Given the description of an element on the screen output the (x, y) to click on. 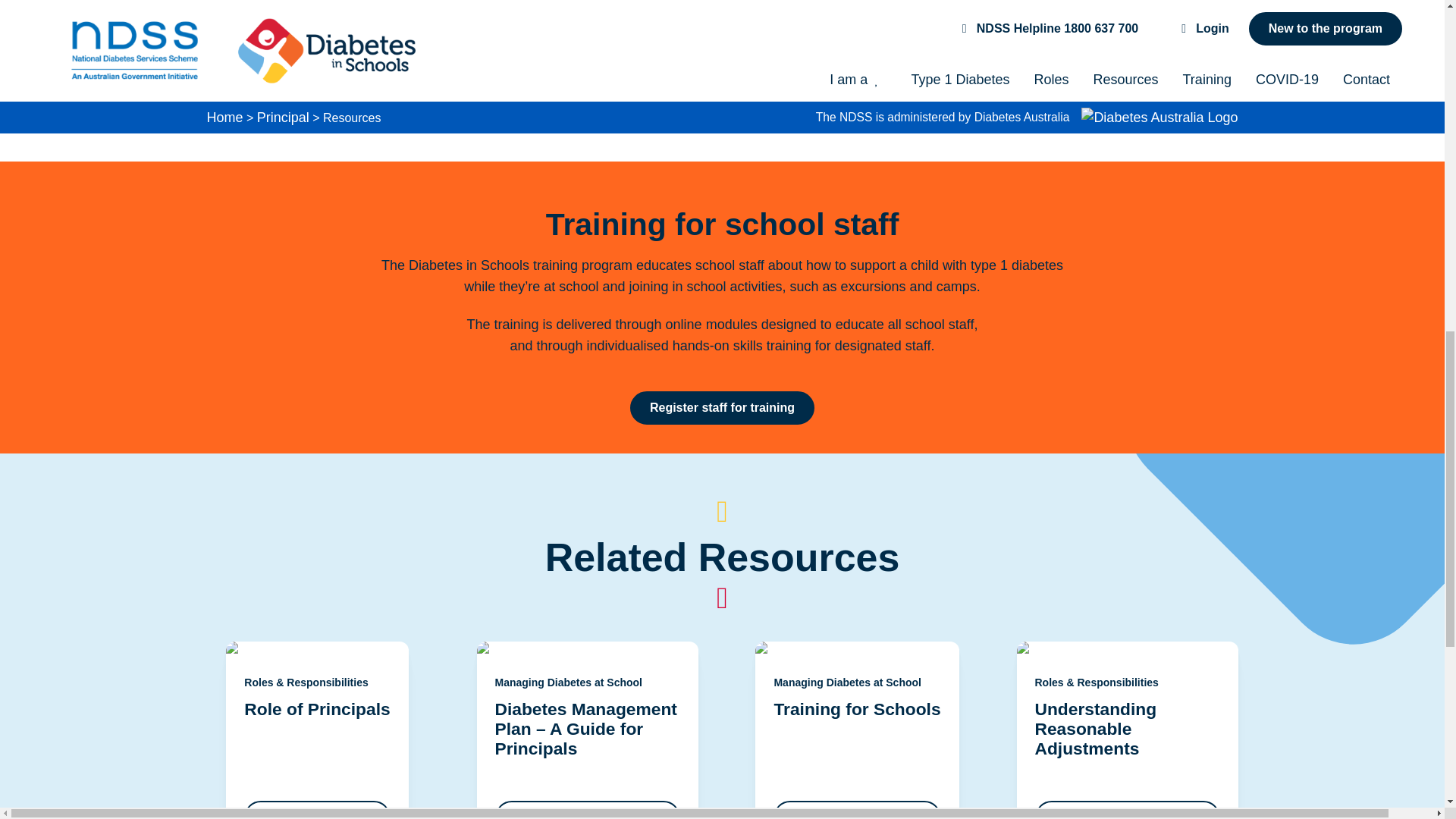
Register Now (461, 55)
Register staff for training (721, 408)
View Resources (271, 114)
Useful external links (571, 114)
Training program (416, 114)
